Given the description of an element on the screen output the (x, y) to click on. 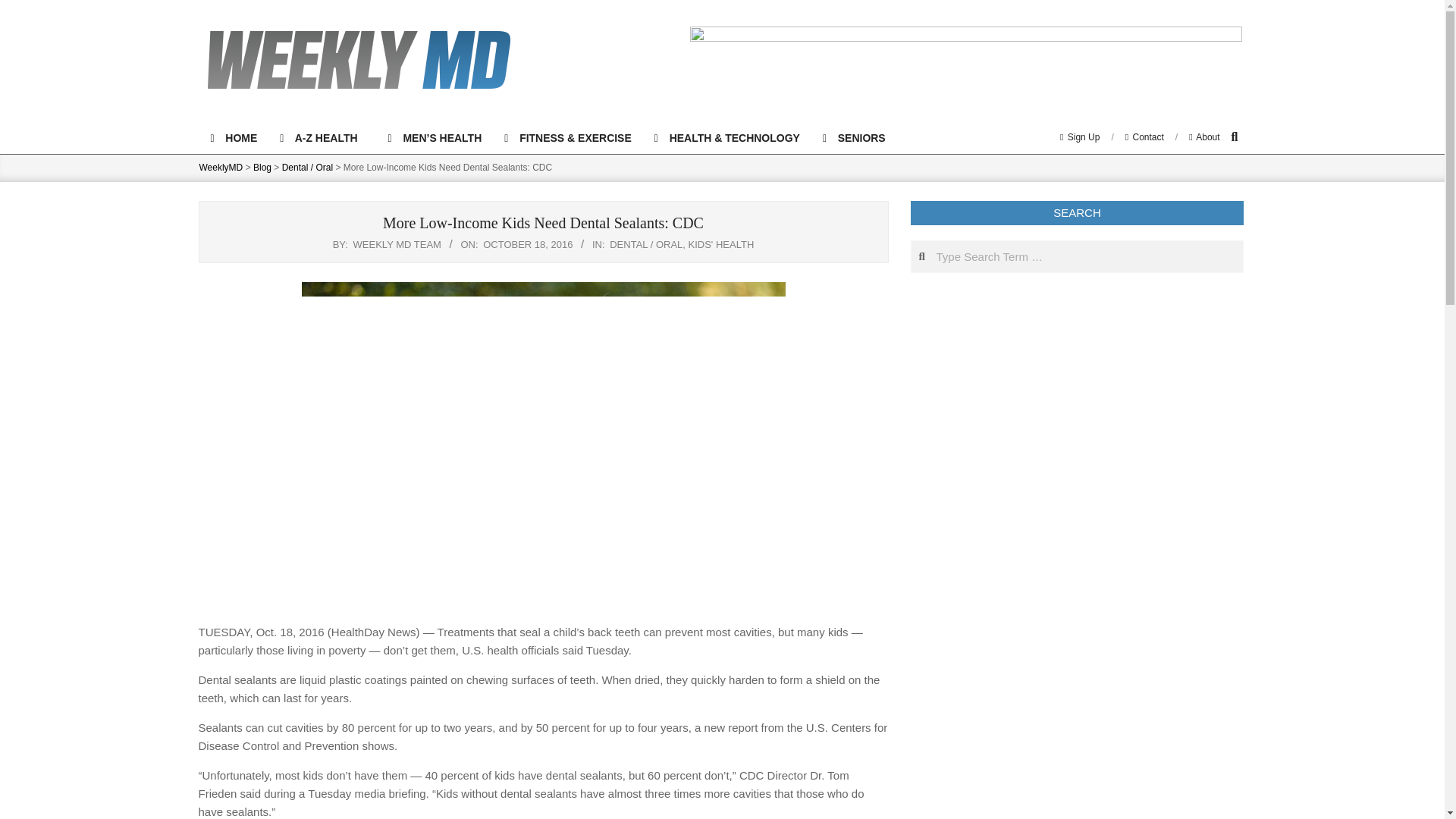
A-Z HEALTH (321, 138)
A-Z HEALTH (321, 138)
Tuesday, October 18, 2016, 5:00 pm (527, 244)
HOME (232, 138)
Posts by Weekly MD Team (397, 244)
Go to Blog. (261, 167)
Go to WeeklyMD. (220, 167)
